Given the description of an element on the screen output the (x, y) to click on. 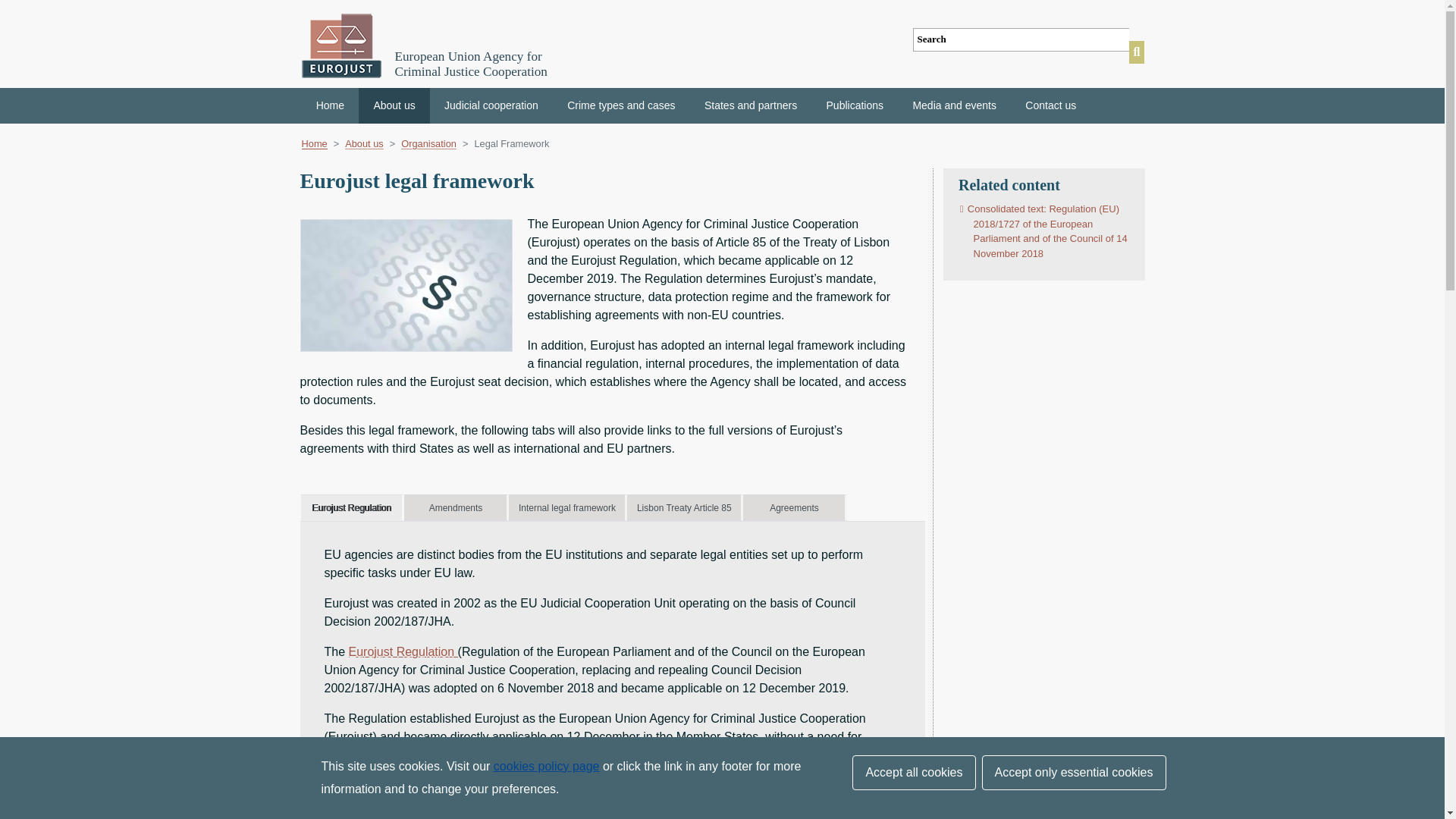
Accept all cookies (913, 772)
Accept only essential cookies (1073, 772)
Enter the terms you wish to search for. (1020, 38)
cookies policy page (546, 766)
Home (330, 105)
